Given the description of an element on the screen output the (x, y) to click on. 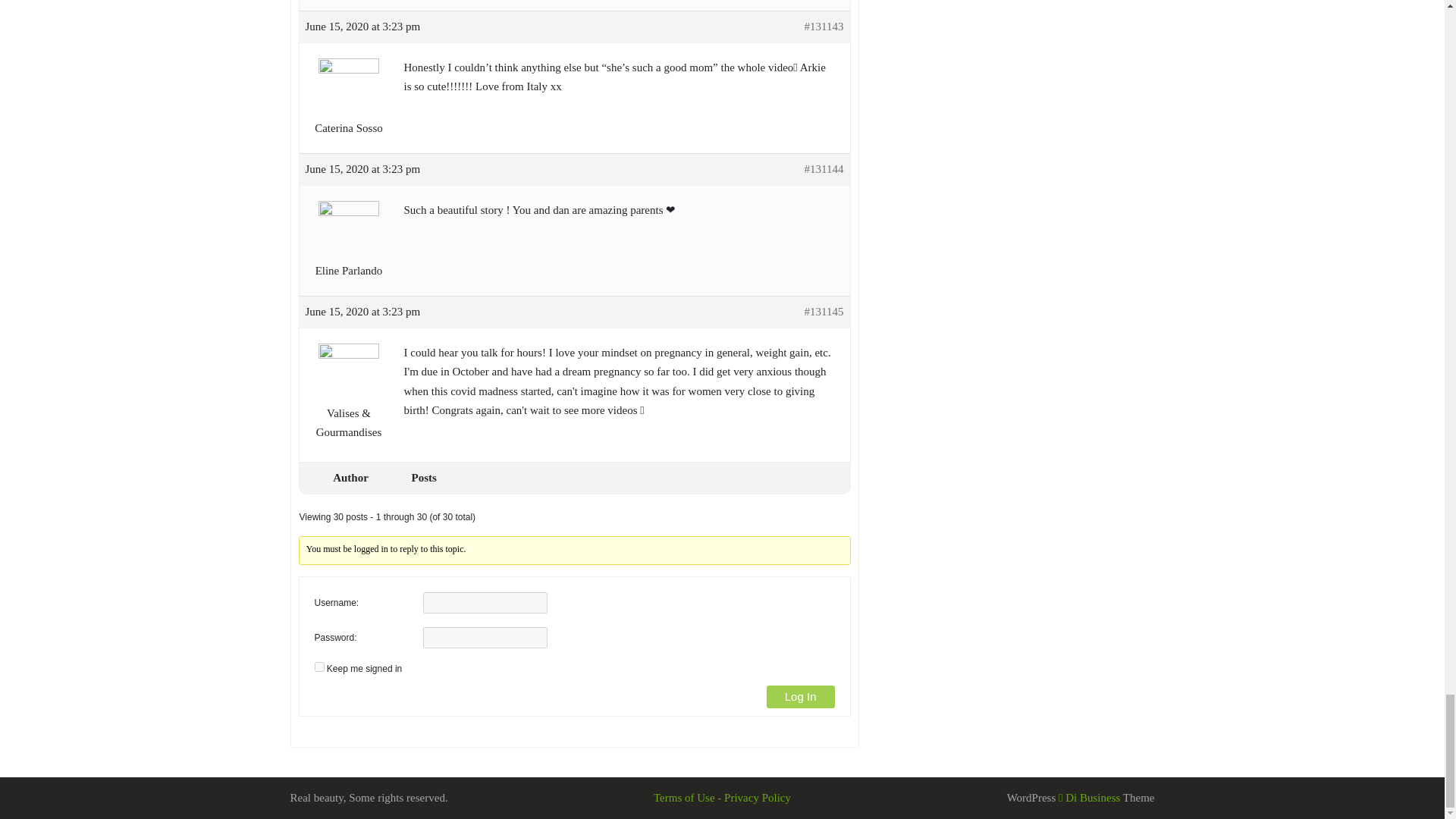
forever (318, 666)
